Given the description of an element on the screen output the (x, y) to click on. 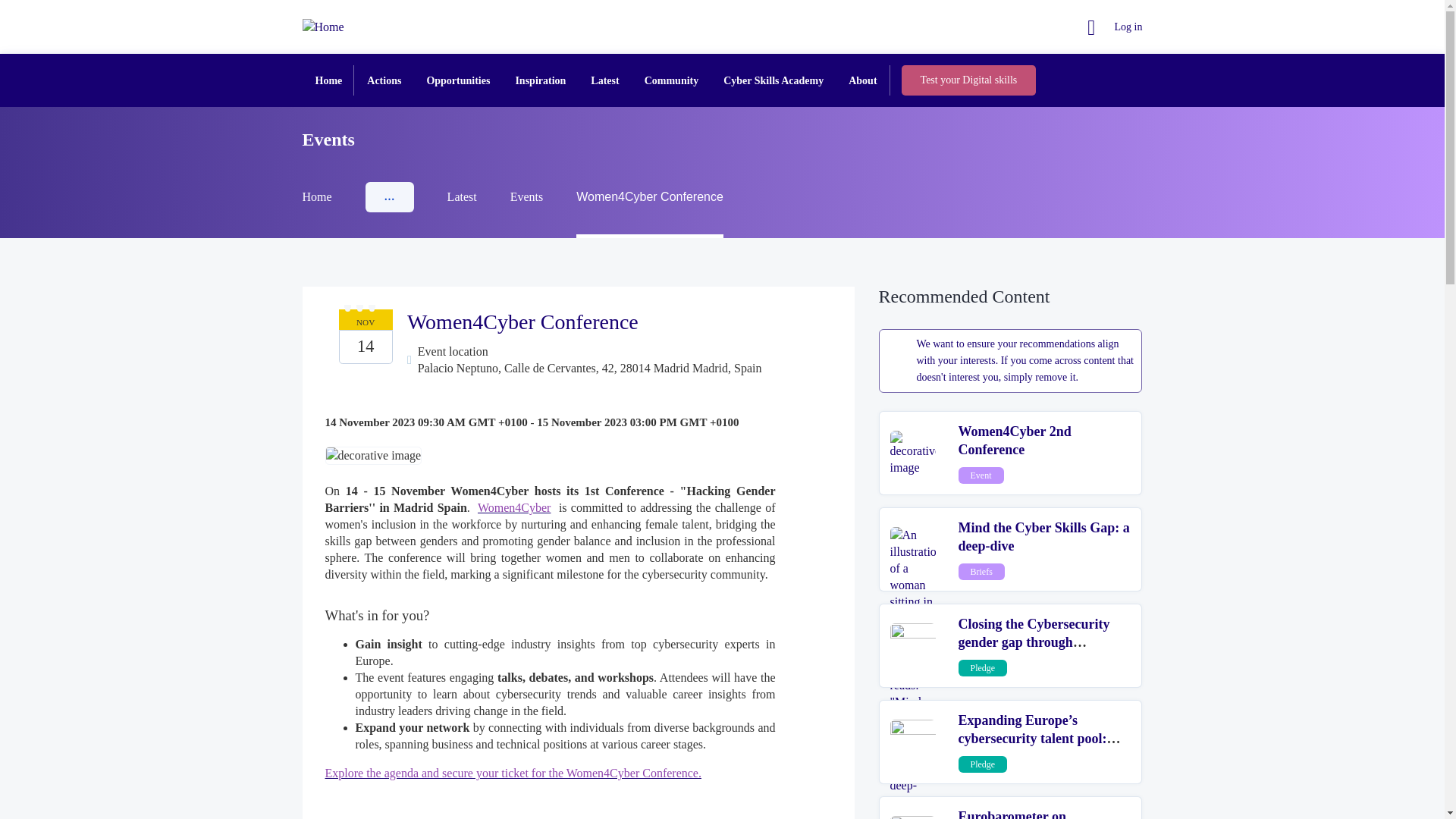
Skip to main content (6, 6)
Inspiration (540, 80)
Community (671, 80)
Opportunities (457, 80)
Eurobarometer on Cyberskills (1012, 814)
Cyber Skills Academy (773, 80)
Latest (604, 80)
About (861, 80)
